Given the description of an element on the screen output the (x, y) to click on. 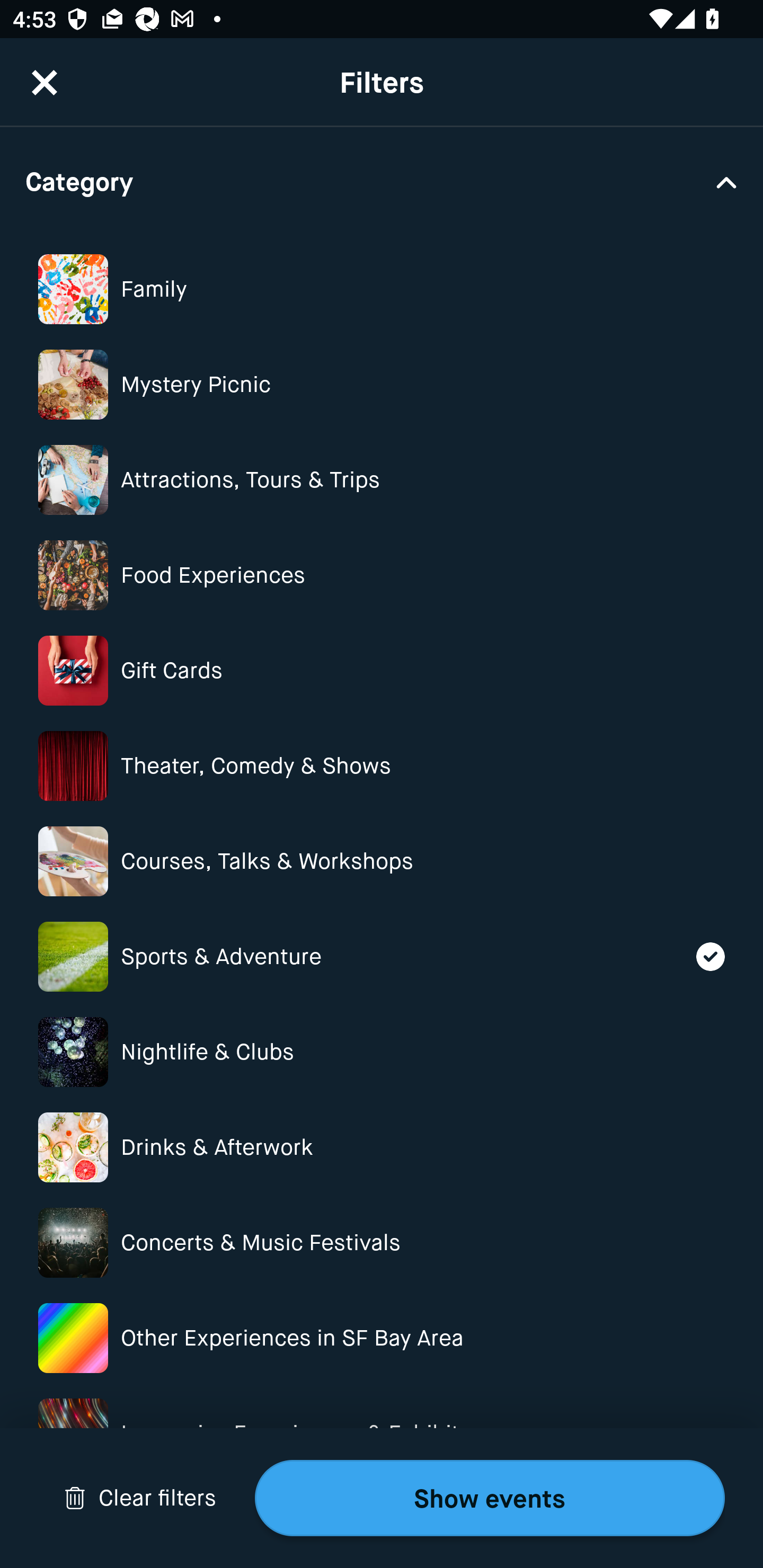
Category Drop Down Arrow (381, 181)
Category Image Family (381, 288)
Category Image Mystery Picnic (381, 384)
Category Image Attractions, Tours & Trips (381, 479)
Category Image Food Experiences (381, 575)
Category Image Gift Cards (381, 669)
Category Image Theater, Comedy & Shows (381, 765)
Category Image Courses, Talks & Workshops (381, 861)
Category Image Sports & Adventure Selected Icon (381, 956)
Category Image Nightlife & Clubs (381, 1051)
Category Image Drinks & Afterwork (381, 1146)
Category Image Concerts & Music Festivals (381, 1242)
Category Image Other Experiences in SF Bay Area (381, 1337)
Drop Down Arrow Clear filters (139, 1497)
Show events (489, 1497)
